Given the description of an element on the screen output the (x, y) to click on. 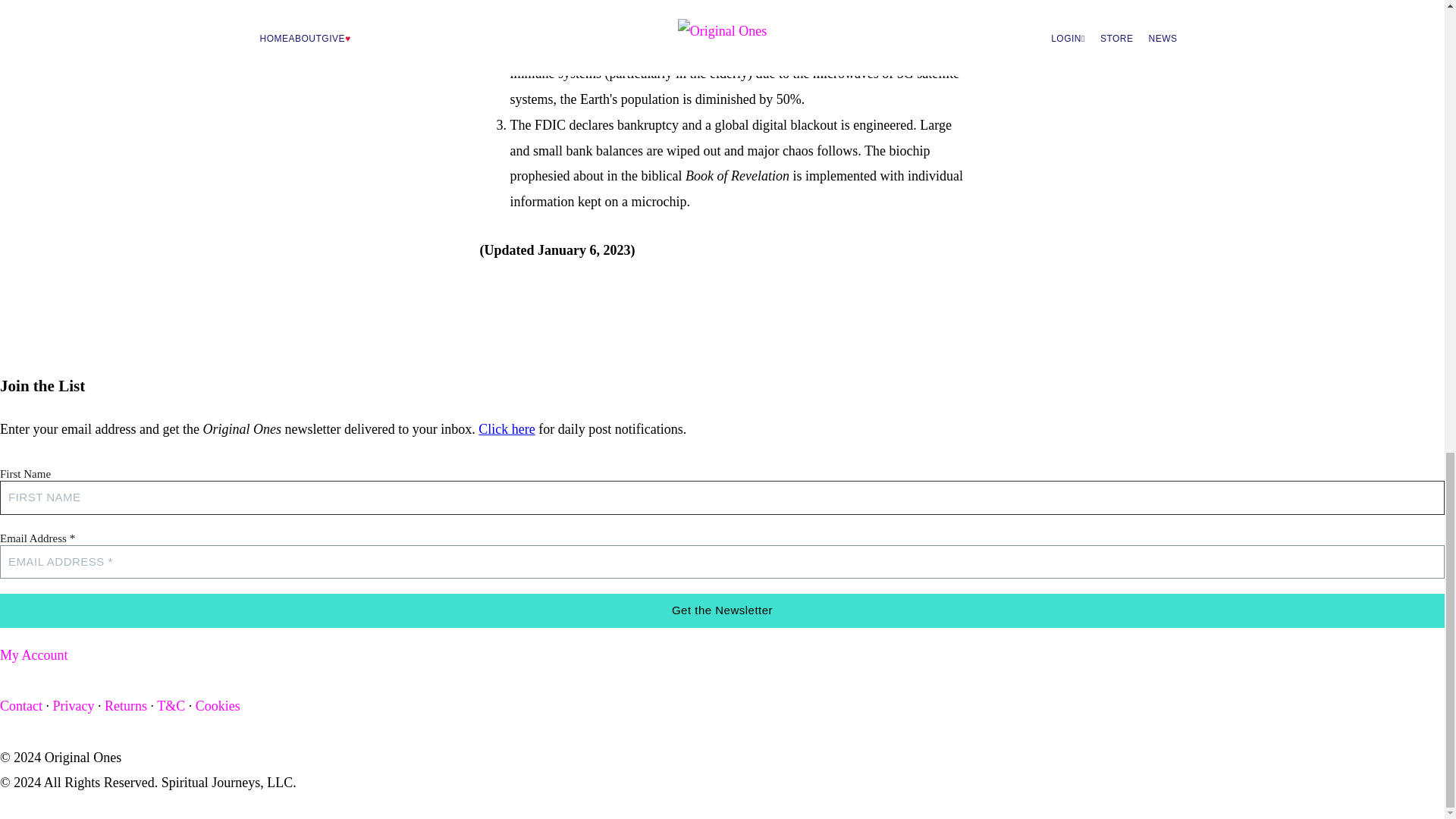
Privacy (73, 705)
Cookies (217, 705)
Returns (125, 705)
Contact (21, 705)
My Account (34, 654)
Click here (506, 428)
